Given the description of an element on the screen output the (x, y) to click on. 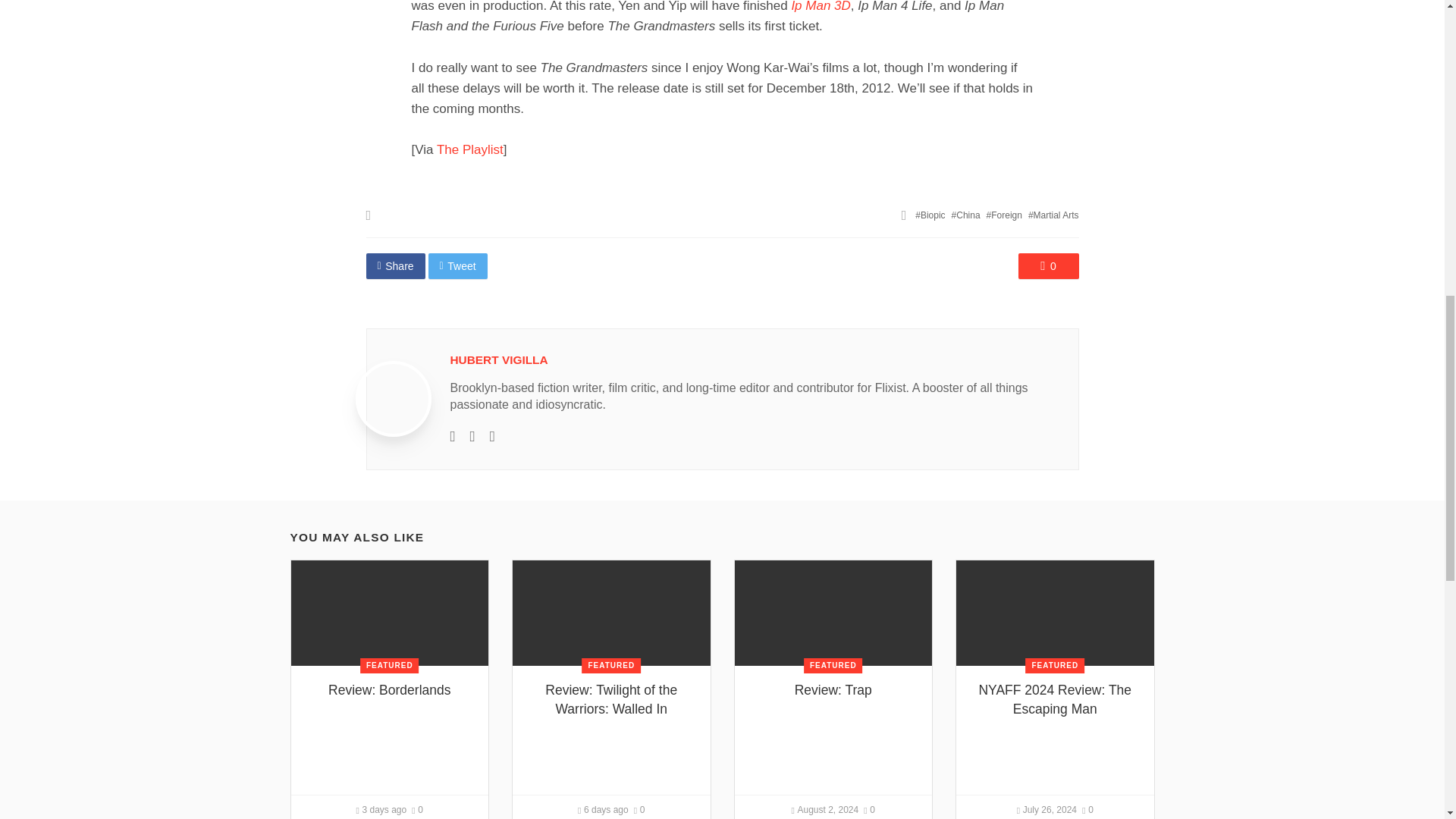
Foreign (1004, 214)
China (965, 214)
Posts by Hubert Vigilla (498, 359)
Share on Twitter (457, 266)
Tweet (457, 266)
Ip Man 3D (820, 6)
Share on Facebook (395, 266)
Share (395, 266)
HUBERT VIGILLA (498, 359)
The Playlist (469, 149)
